Given the description of an element on the screen output the (x, y) to click on. 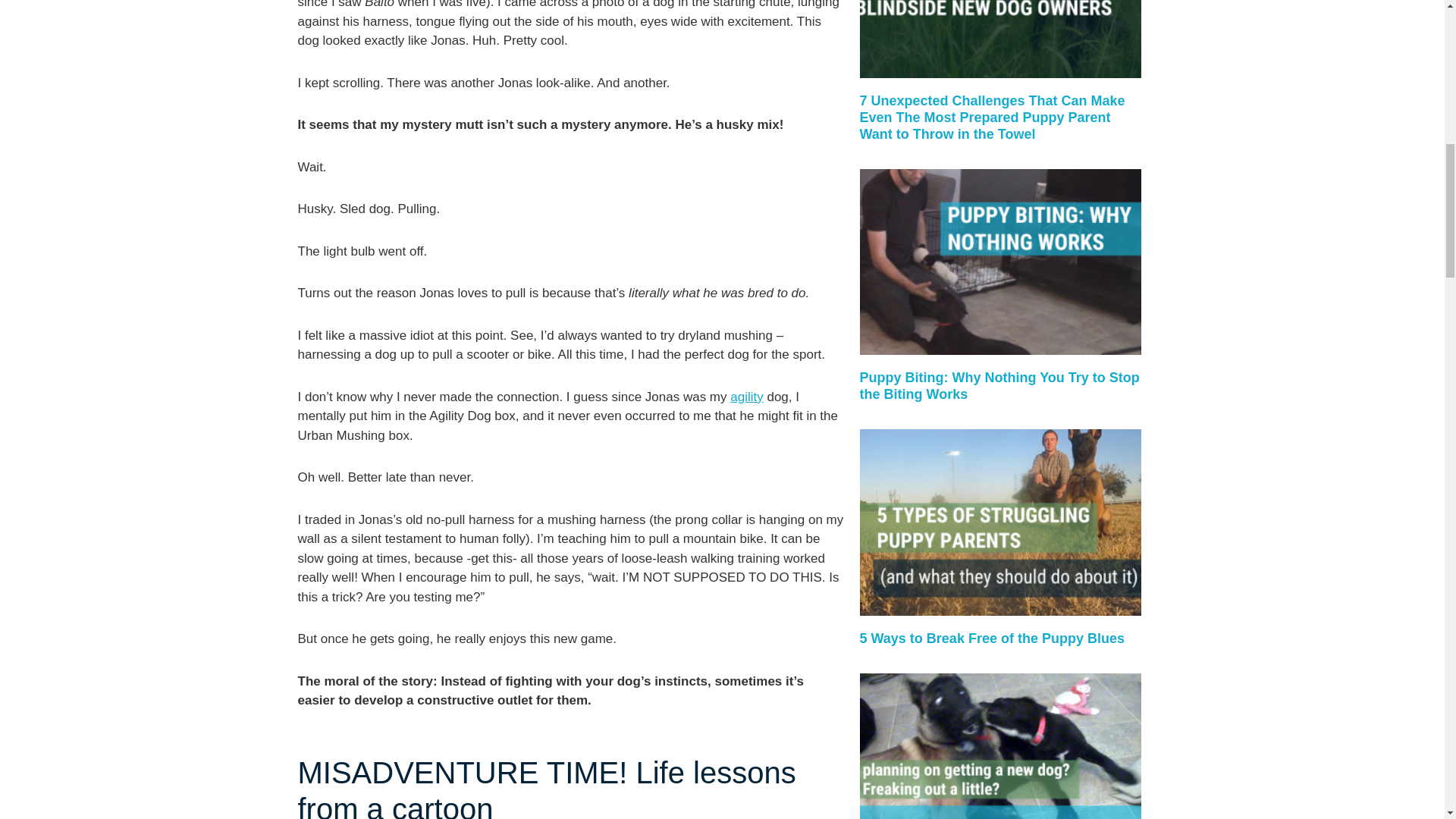
agility (746, 396)
